Given the description of an element on the screen output the (x, y) to click on. 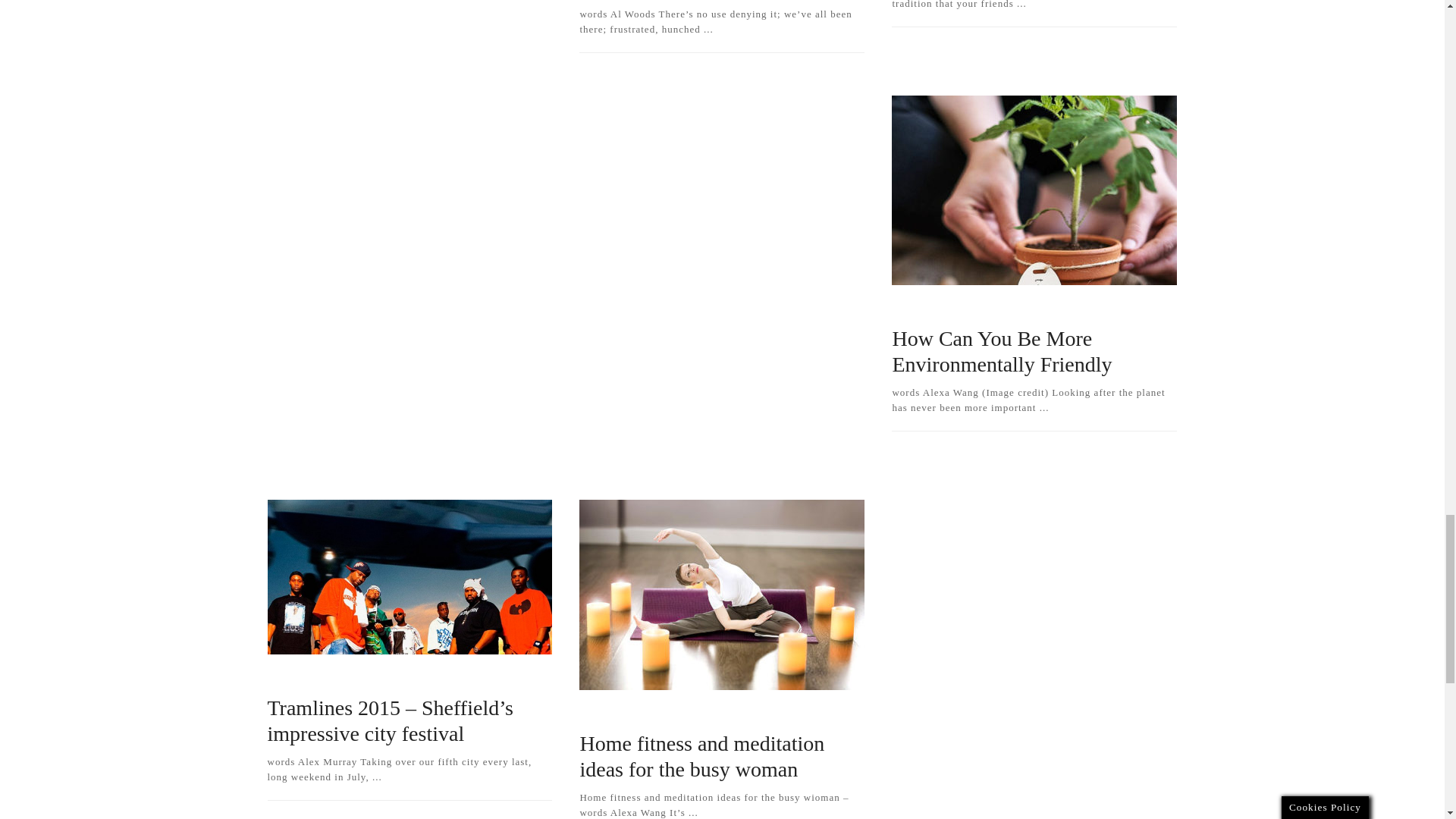
View all posts in 1853 (1002, 308)
View all posts in 1431 (919, 308)
